Given the description of an element on the screen output the (x, y) to click on. 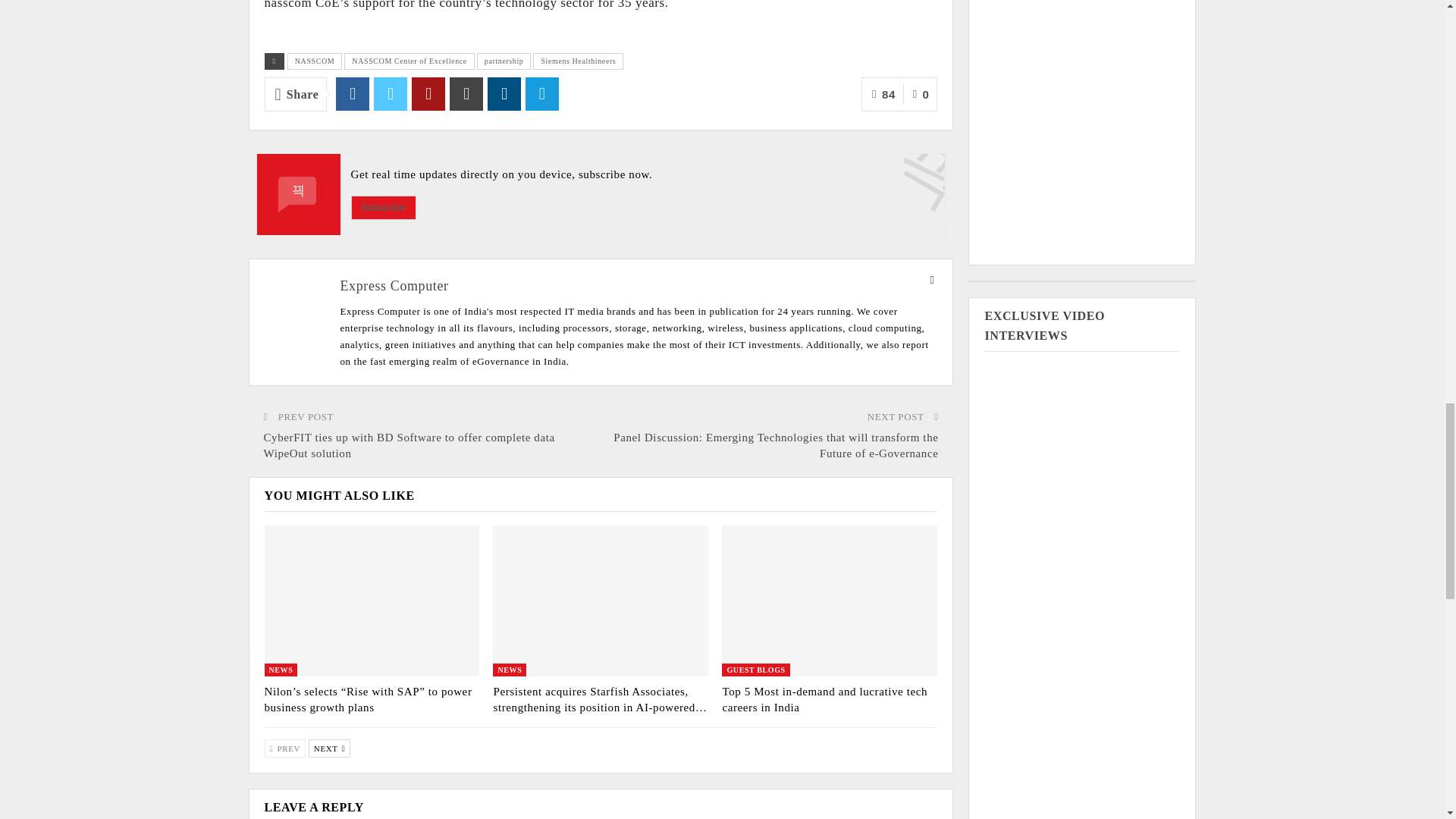
Top 5 Most in-demand and lucrative tech careers in India (824, 699)
Previous (284, 748)
Top 5 Most in-demand and lucrative tech careers in India (829, 600)
